Given the description of an element on the screen output the (x, y) to click on. 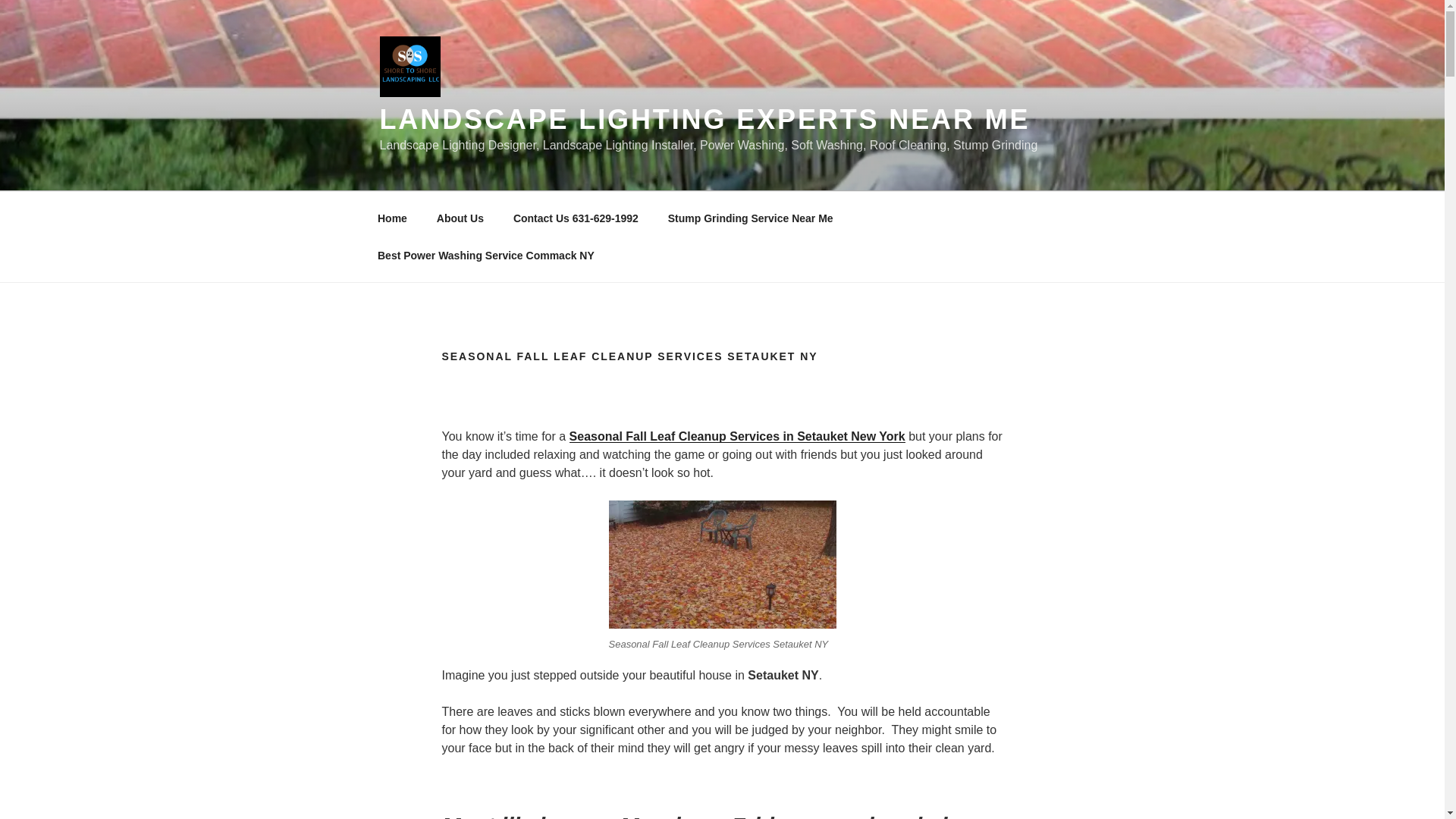
Seasonal Fall Leaf Cleanup Services in Setauket New York (737, 436)
LANDSCAPE LIGHTING EXPERTS NEAR ME (703, 119)
Best Power Washing Service Commack NY (485, 254)
Seasonal Fall Leaf Cleanup Services Setauket NY (721, 564)
Home (392, 218)
Contact Us 631-629-1992 (574, 218)
About Us (459, 218)
Stump Grinding Service Near Me (749, 218)
